Given the description of an element on the screen output the (x, y) to click on. 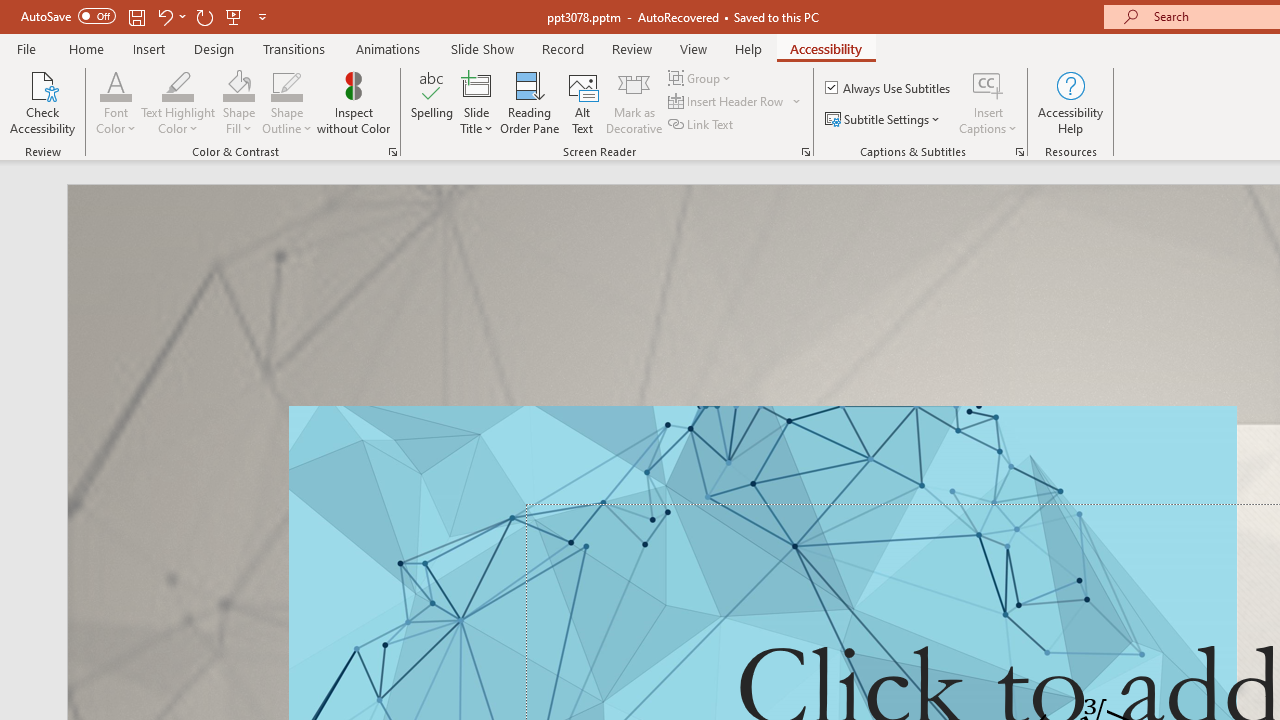
Captions & Subtitles (1019, 151)
Always Use Subtitles (889, 87)
